Given the description of an element on the screen output the (x, y) to click on. 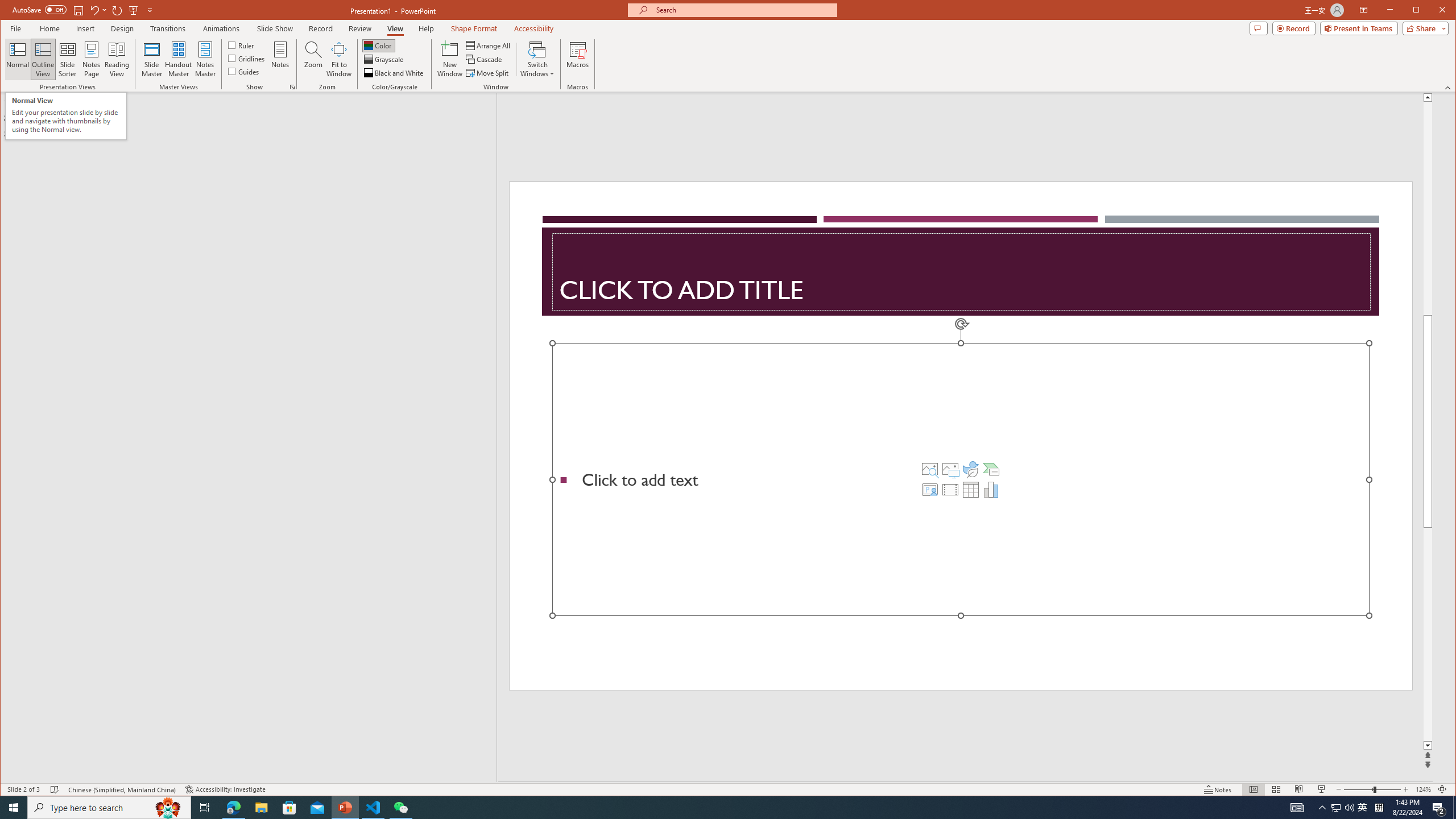
Outline View (42, 59)
Zoom 124% (1422, 789)
